Given the description of an element on the screen output the (x, y) to click on. 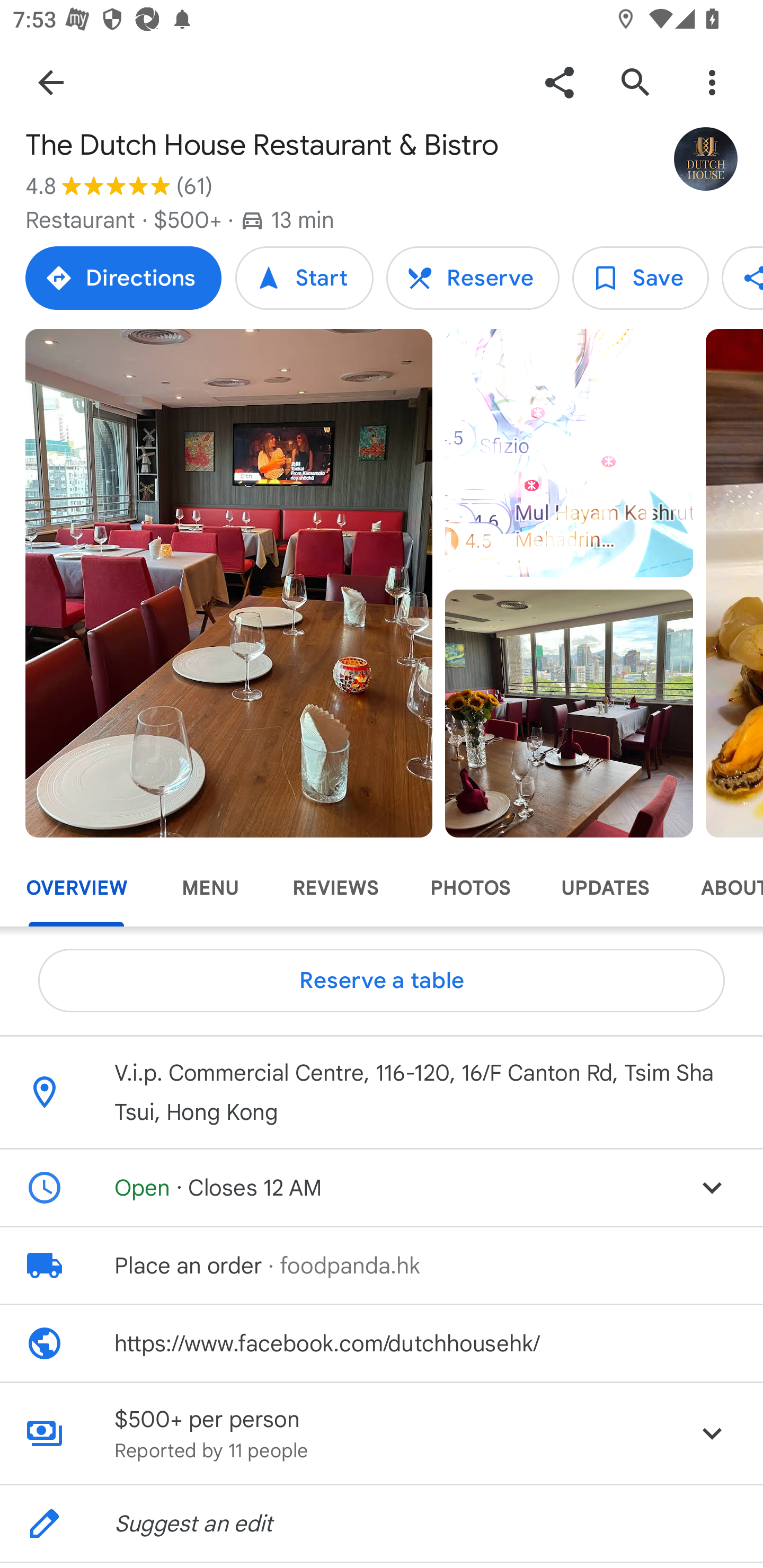
Back to Search (50, 81)
Share (559, 81)
Search (635, 81)
Start Start Start (304, 277)
Reserve a table Reserve Reserve a table (472, 277)
Photo (228, 583)
Video (568, 453)
Photo (568, 713)
MENU Menu (209, 887)
REVIEWS Reviews (335, 887)
PHOTOS Photos (469, 887)
UPDATES Updates (605, 887)
ABOUT About (719, 887)
Reserve a table Reserve a table Reserve a table (381, 980)
Place an order · foodpanda.hk (381, 1265)
Suggest an edit (381, 1522)
